Given the description of an element on the screen output the (x, y) to click on. 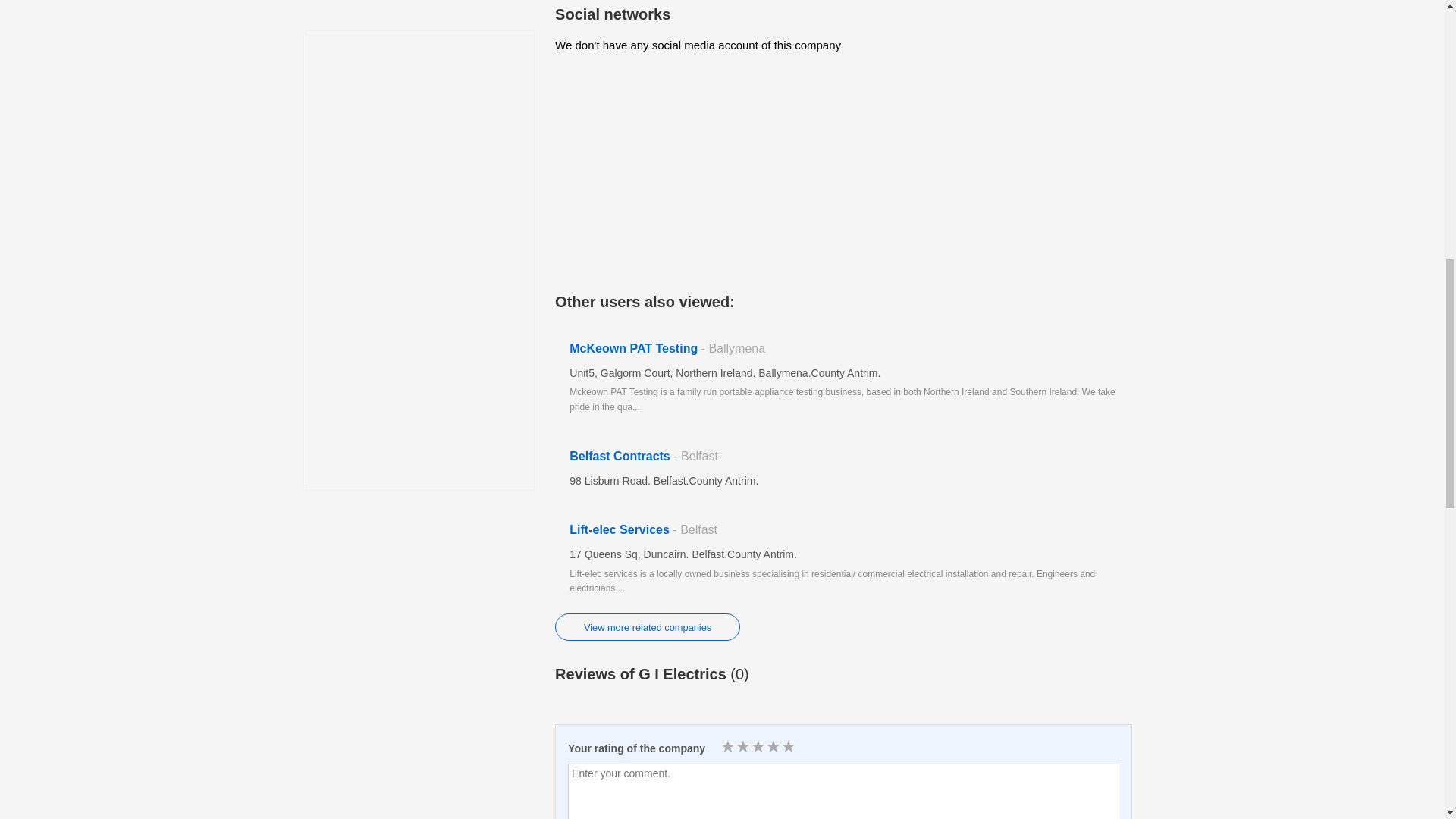
Lift-elec Services (843, 559)
View more related companies (646, 626)
McKeown PAT Testing (843, 378)
Belfast Contracts (843, 469)
